Given the description of an element on the screen output the (x, y) to click on. 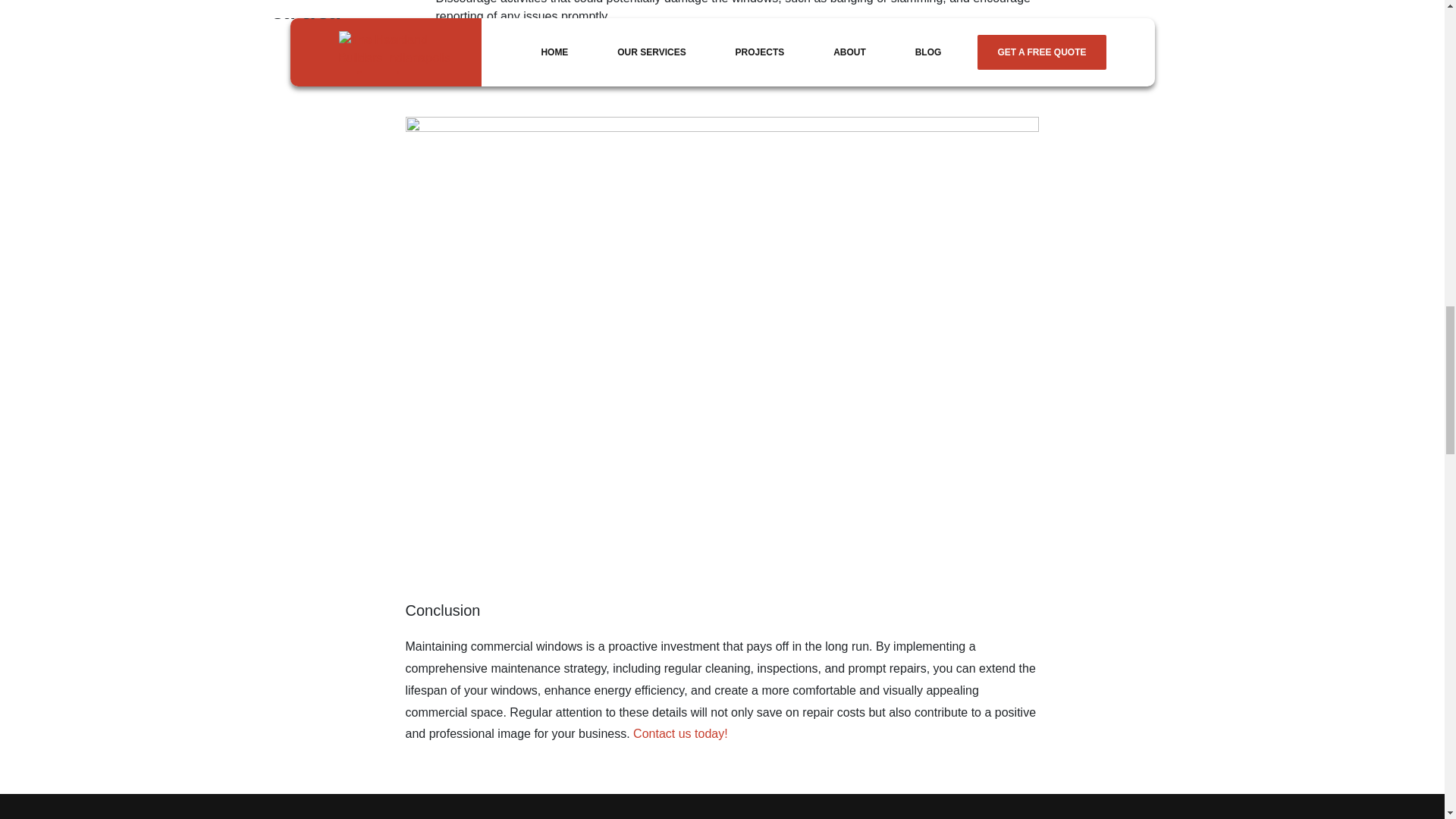
Contact us today! (680, 733)
